Given the description of an element on the screen output the (x, y) to click on. 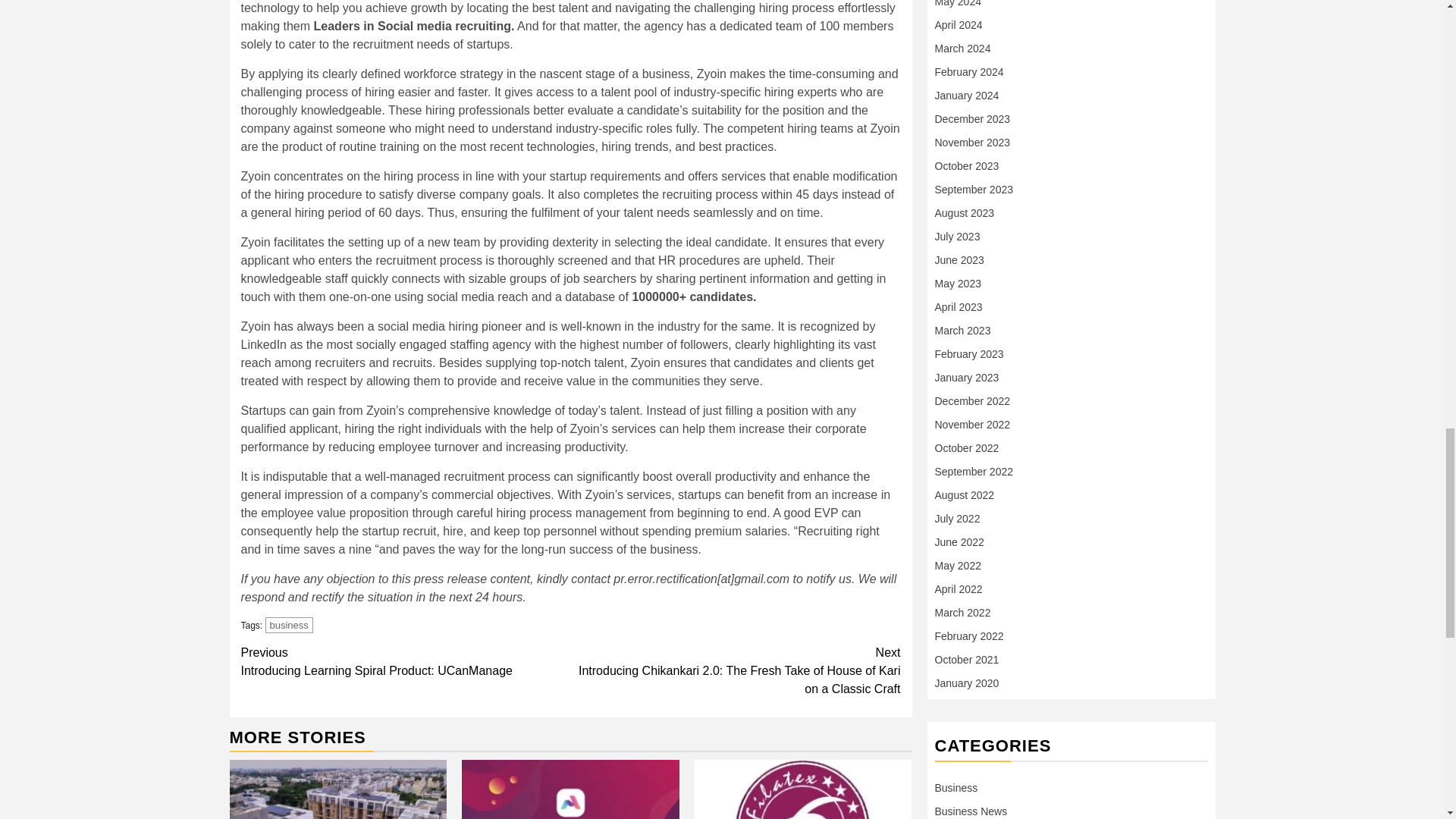
business (288, 625)
